Given the description of an element on the screen output the (x, y) to click on. 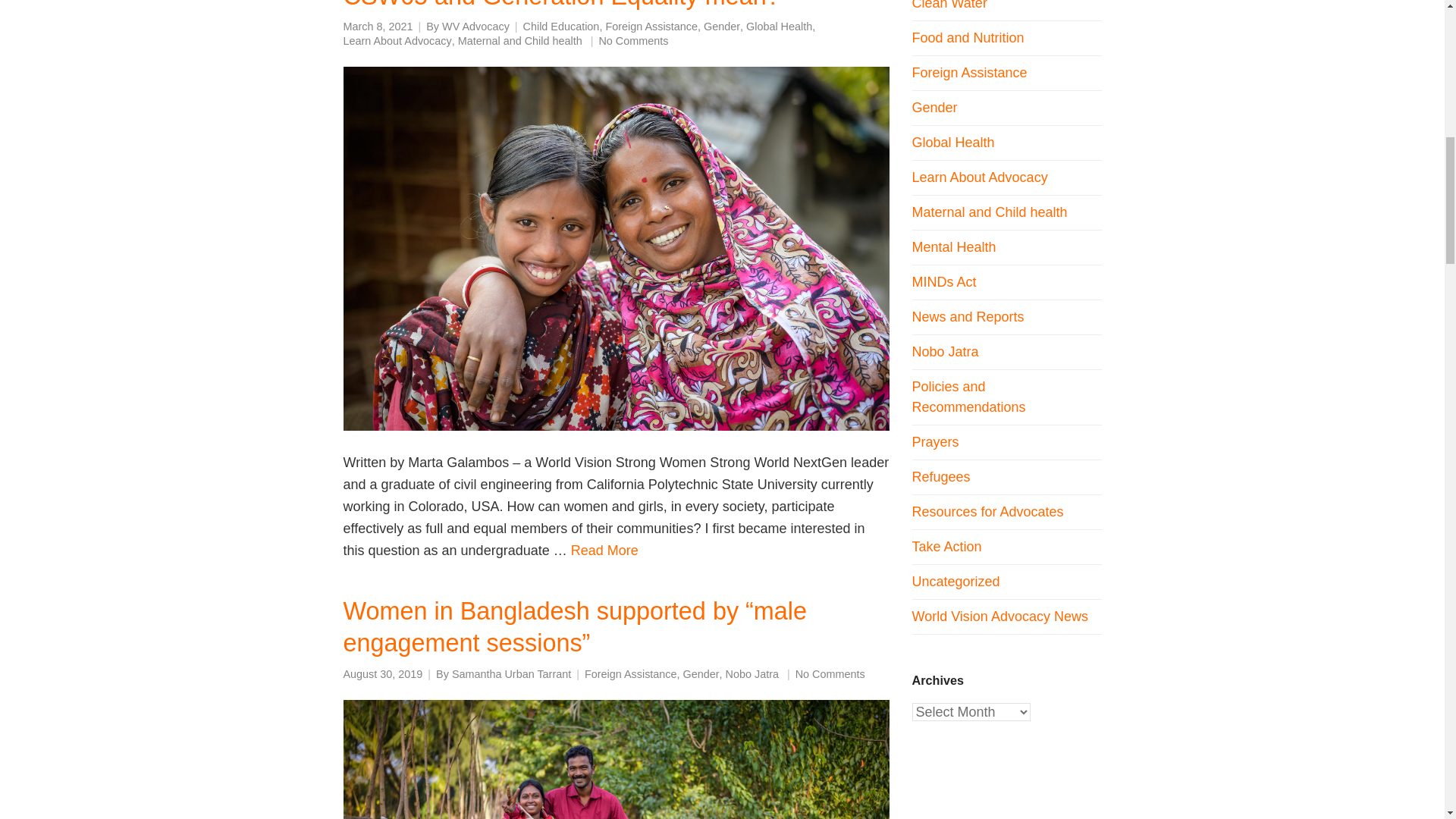
View all posts in Learn About Advocacy (396, 41)
View all posts in Maternal and Child health (520, 41)
View all posts in Child Education (560, 26)
View all posts in Foreign Assistance (631, 674)
View all posts in Gender (721, 26)
View all posts in Global Health (778, 26)
View all posts in Gender (700, 674)
View all posts in Foreign Assistance (651, 26)
